Given the description of an element on the screen output the (x, y) to click on. 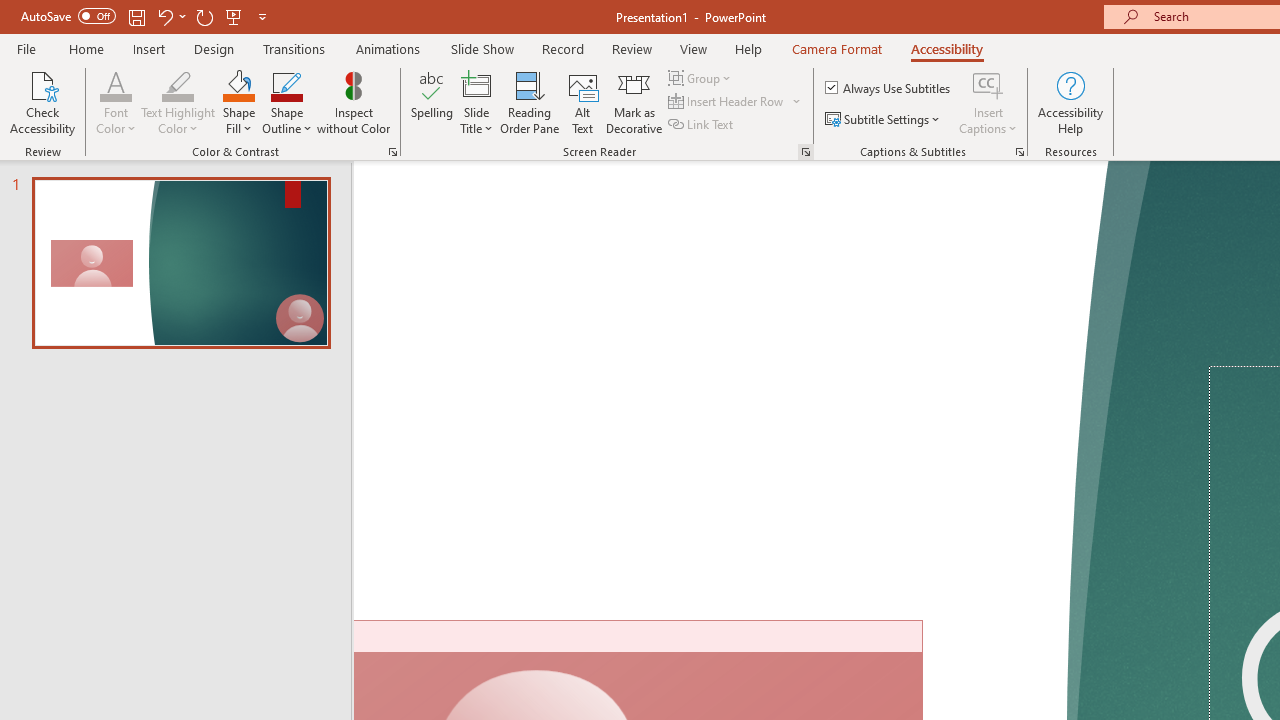
Subtitle Settings (884, 119)
Group (701, 78)
Insert Header Row (727, 101)
Shape Outline Blue, Accent 1 (286, 84)
Accessibility Help (1070, 102)
